Given the description of an element on the screen output the (x, y) to click on. 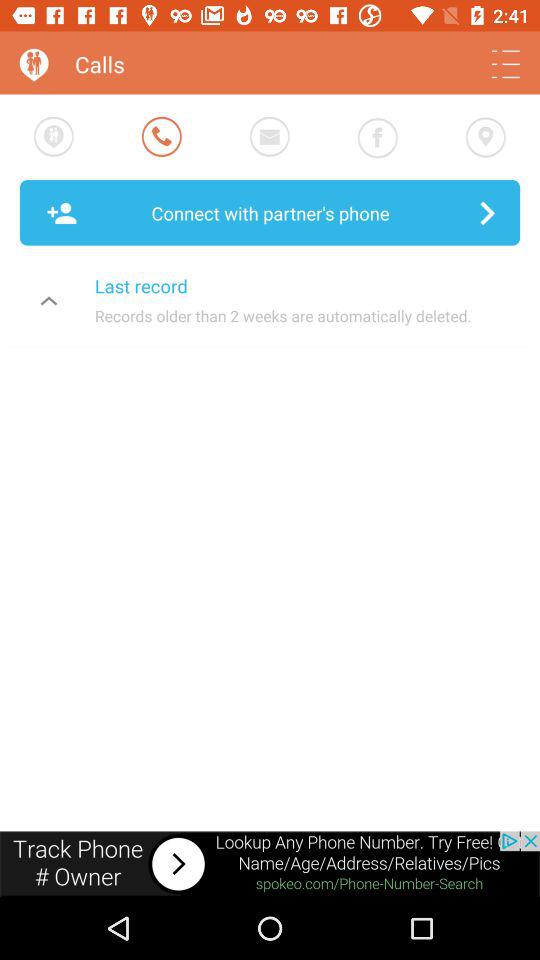
go to menu (505, 64)
